Given the description of an element on the screen output the (x, y) to click on. 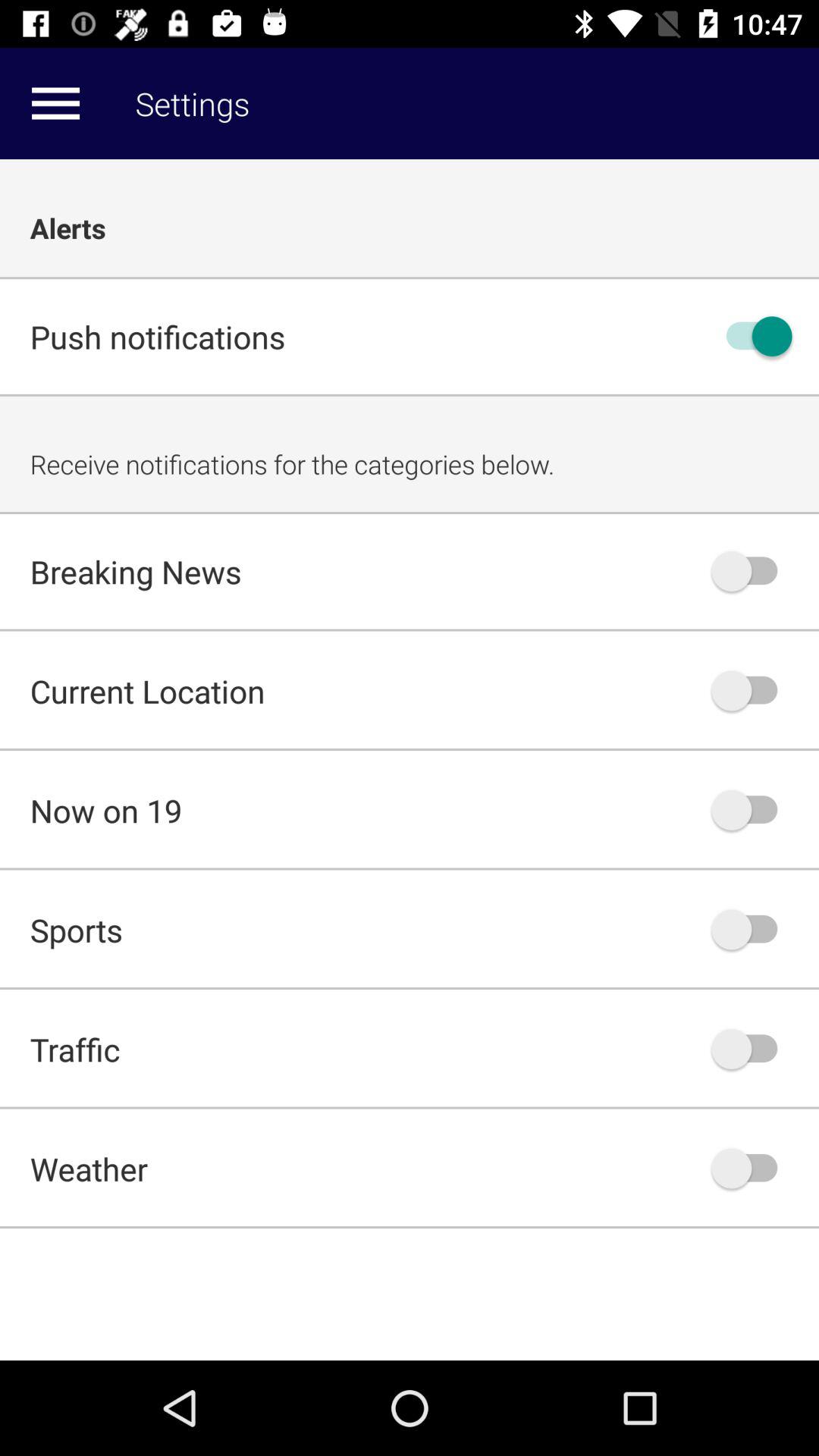
more options in setting (55, 103)
